Given the description of an element on the screen output the (x, y) to click on. 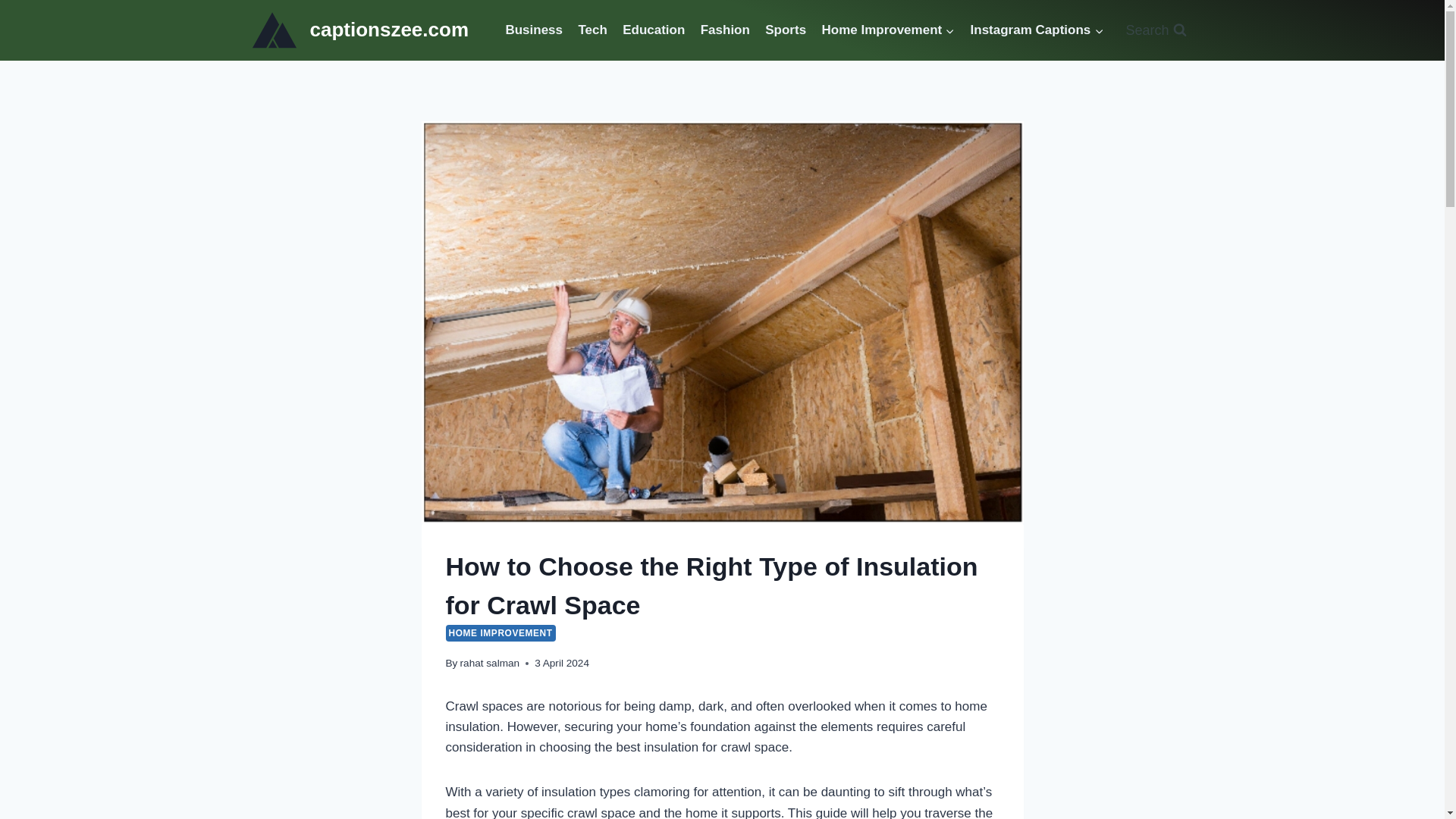
Education (653, 30)
Search (1155, 30)
HOME IMPROVEMENT (500, 632)
Sports (785, 30)
captionszee.com (359, 29)
Instagram Captions (1036, 30)
Business (533, 30)
rahat salman (489, 663)
Fashion (725, 30)
Home Improvement (887, 30)
Tech (592, 30)
